Given the description of an element on the screen output the (x, y) to click on. 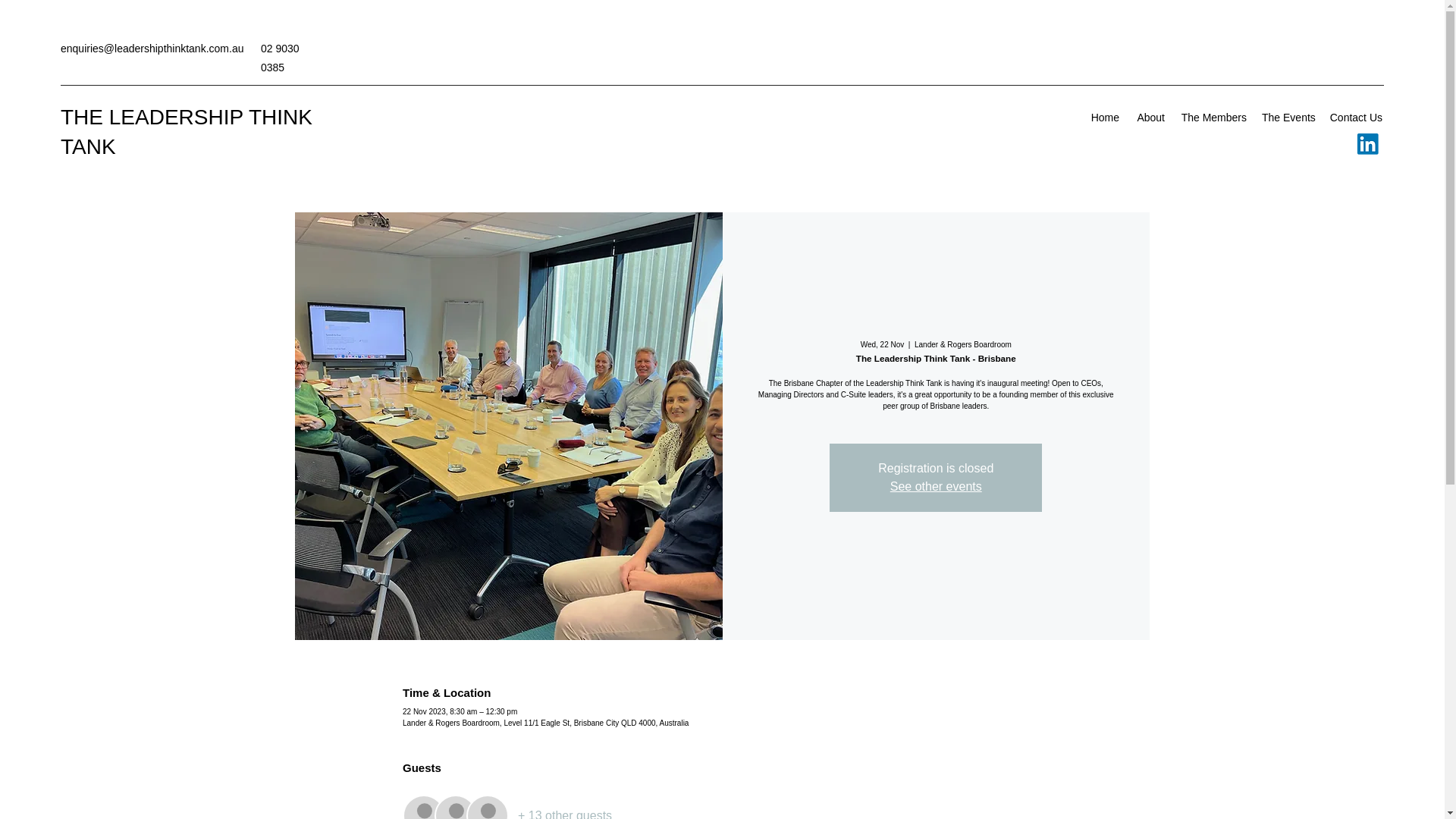
The Events (1287, 117)
See other events (935, 486)
THE LEADERSHIP THINK TANK (187, 131)
Log In (1355, 48)
Home (1104, 117)
About (1149, 117)
Contact Us (1356, 117)
The Members (1212, 117)
